Given the description of an element on the screen output the (x, y) to click on. 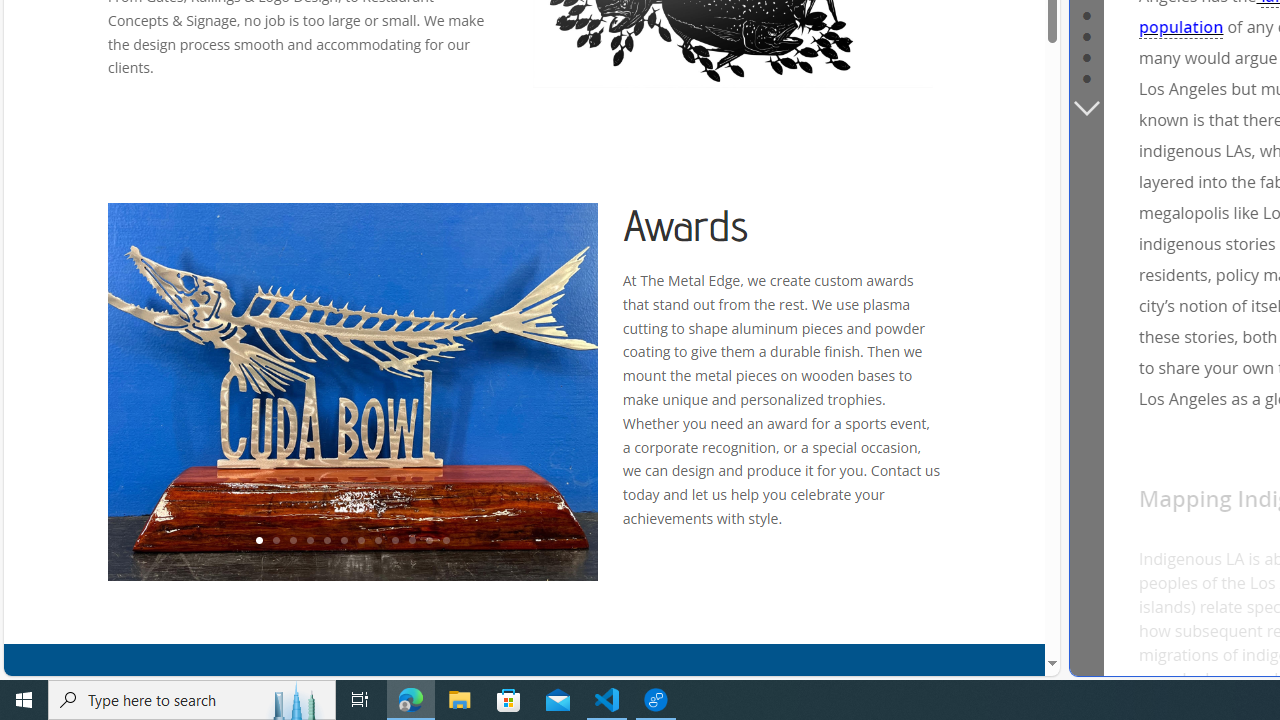
12 (445, 541)
2 (275, 541)
